Given the description of an element on the screen output the (x, y) to click on. 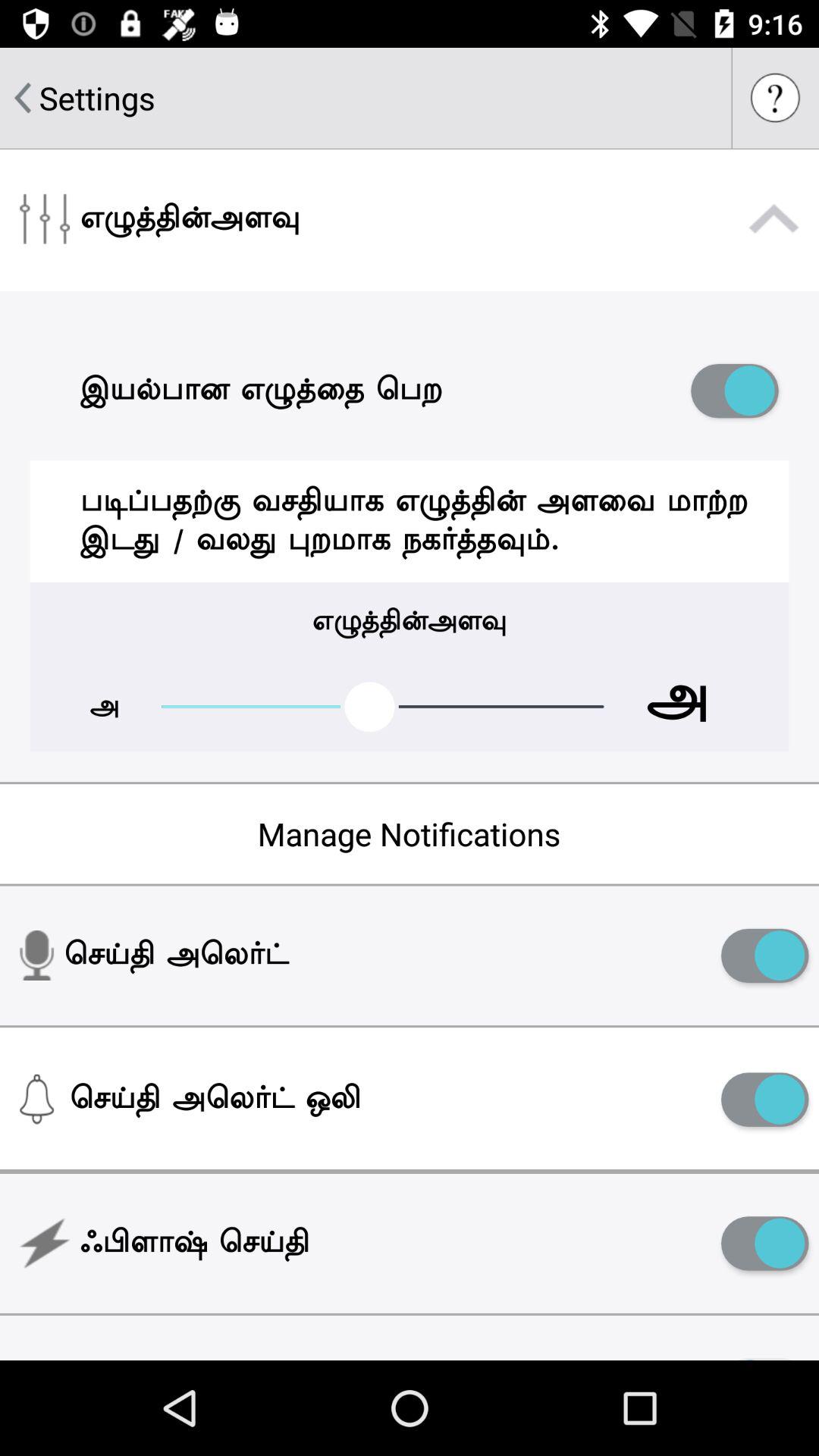
click settings (97, 97)
